Given the description of an element on the screen output the (x, y) to click on. 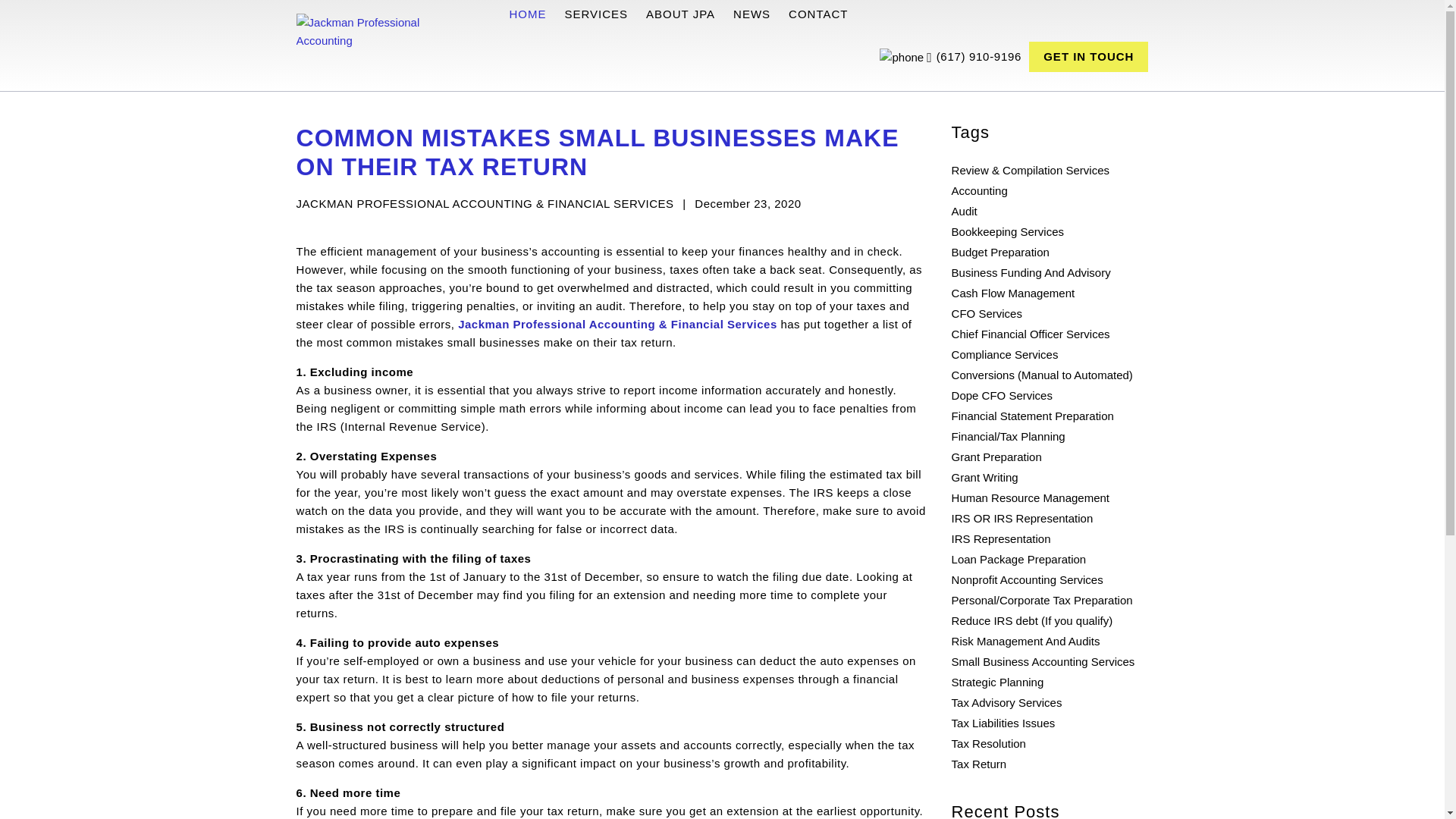
Audit (964, 210)
Chief Financial Officer Services (1030, 333)
Budget Preparation (1000, 251)
Dope CFO Services (1002, 395)
GET IN TOUCH (1088, 56)
Bookkeeping Services (1008, 231)
SERVICES (595, 14)
CONTACT (817, 14)
Business Funding And Advisory (1031, 272)
Financial Statement Preparation (1032, 415)
IRS OR IRS Representation (1022, 517)
HOME (531, 14)
Compliance Services (1005, 354)
ABOUT JPA (680, 14)
Human Resource Management (1030, 497)
